Given the description of an element on the screen output the (x, y) to click on. 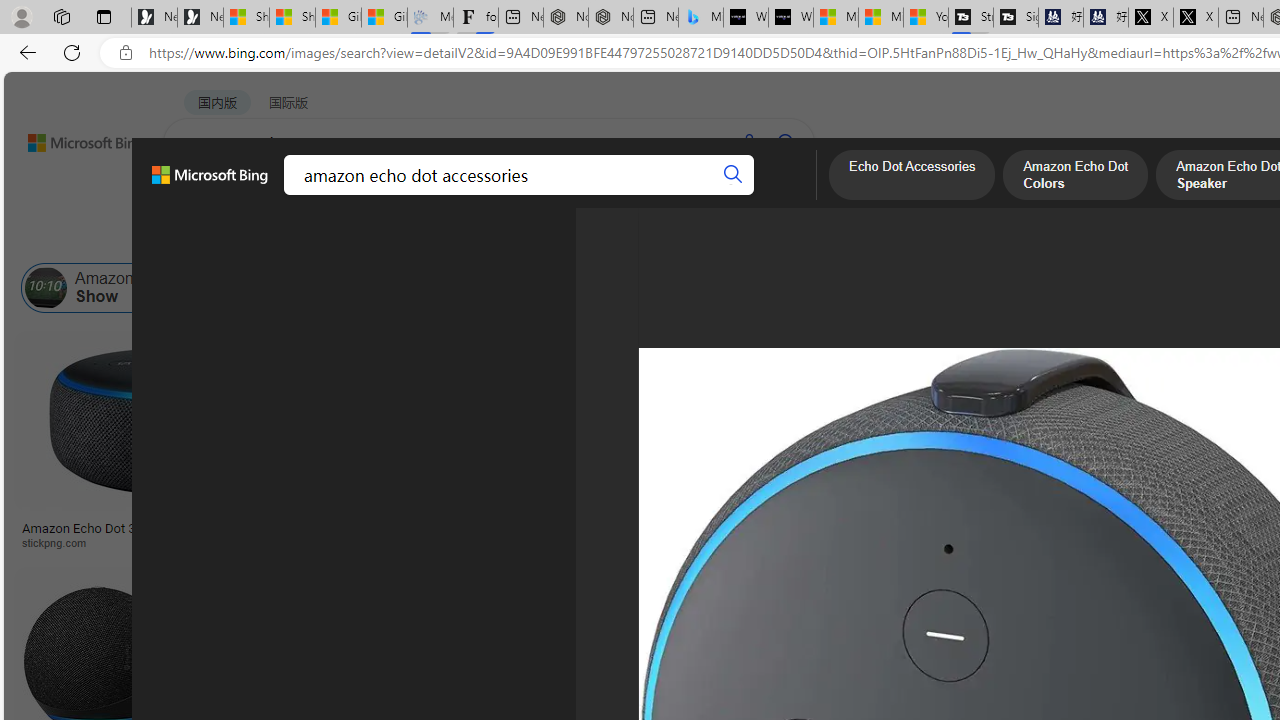
Amazon Echo 2nd Generation (1070, 287)
Amazon Echo Dot 4th Gen (995, 400)
Dropdown Menu (779, 195)
VIDEOS (458, 195)
IMAGES (274, 195)
Color (305, 237)
Microsoft Bing Travel - Shangri-La Hotel Bangkok (700, 17)
License (664, 237)
Newsletter Sign Up (199, 17)
